Given the description of an element on the screen output the (x, y) to click on. 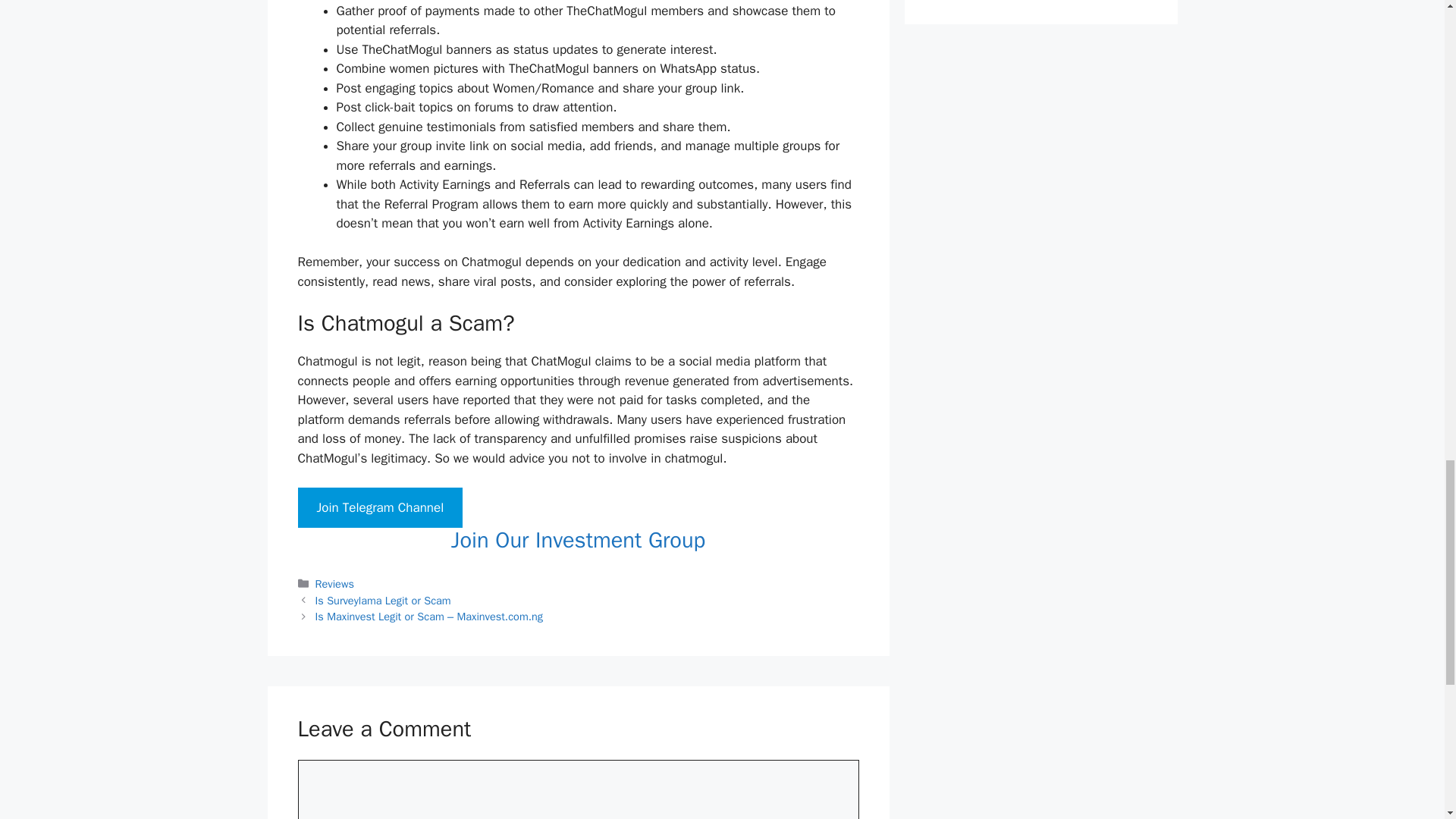
Is Surveylama Legit or Scam (383, 600)
Reviews (334, 583)
Join Telegram Channel (380, 507)
Previous (383, 600)
Join Our Investment Group (577, 540)
Next (429, 616)
